Given the description of an element on the screen output the (x, y) to click on. 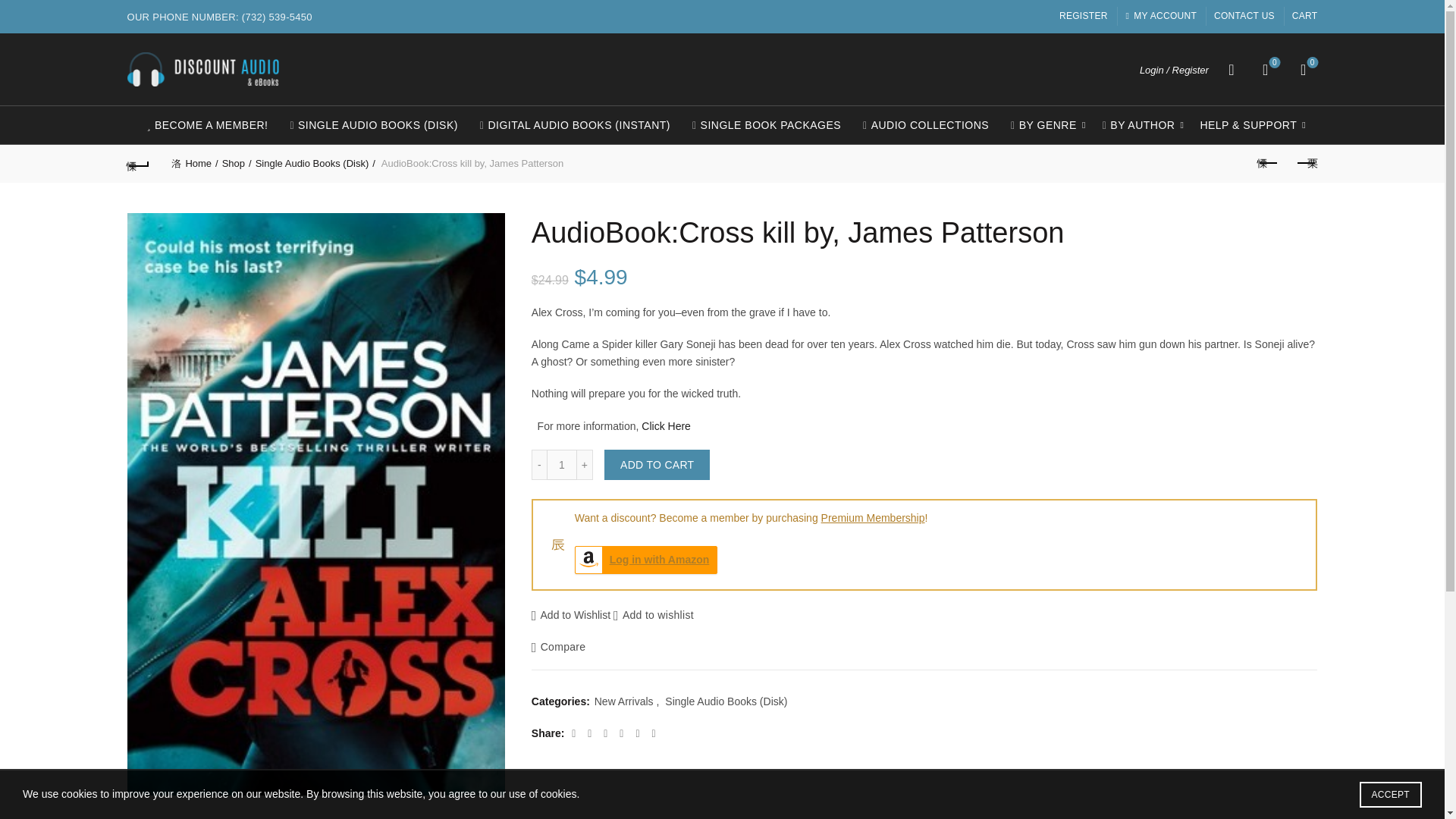
1 (561, 464)
CONTACT US (1244, 15)
REGISTER (1083, 15)
MY ACCOUNT (1160, 15)
